Given the description of an element on the screen output the (x, y) to click on. 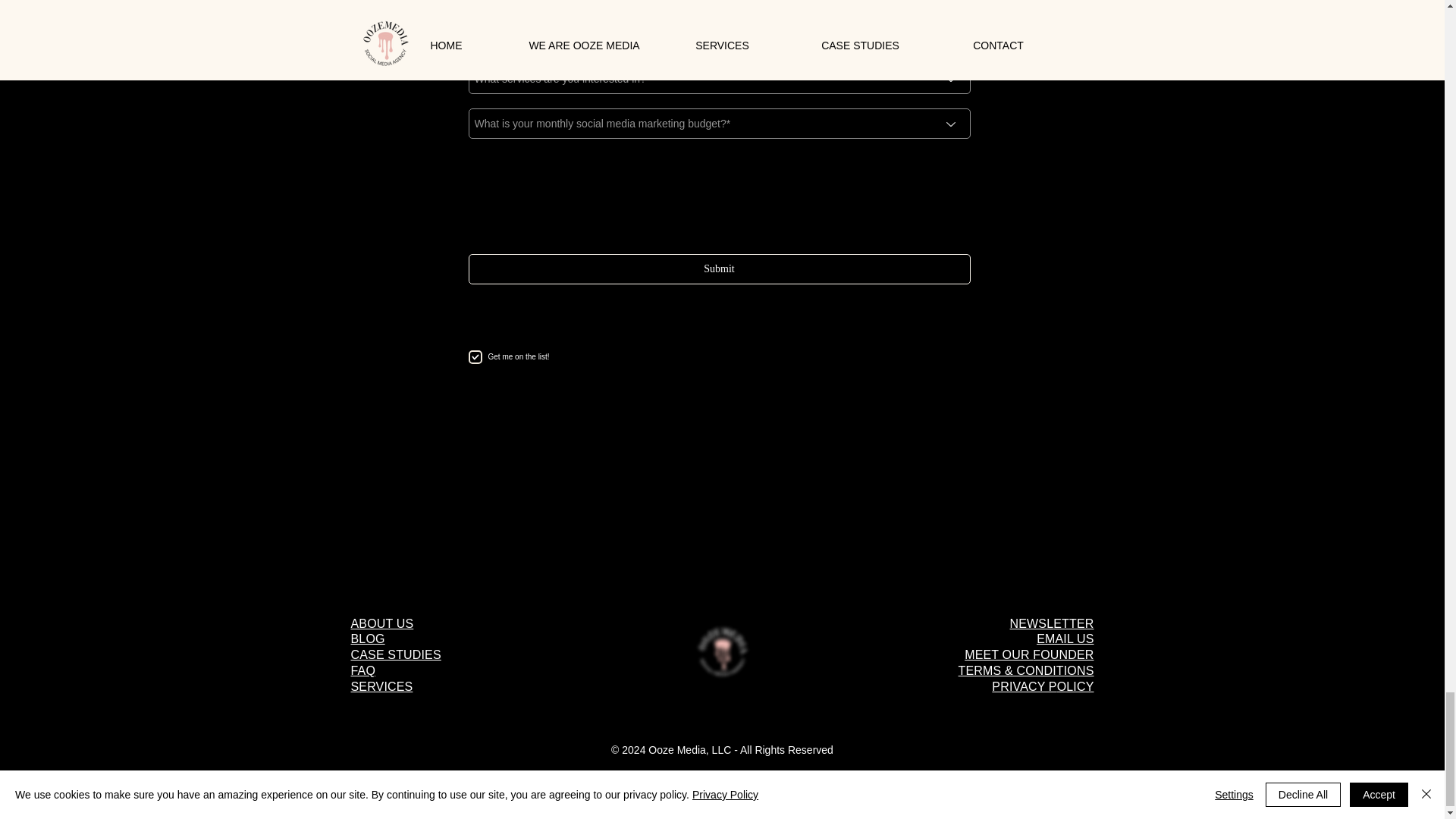
SERVICES (381, 686)
CASE STUDIES (395, 654)
ABOUT US (381, 623)
EMAIL US (1064, 638)
NEWSLETTER (1052, 623)
Submit (719, 268)
BLOG (367, 638)
FAQ (362, 670)
